Given the description of an element on the screen output the (x, y) to click on. 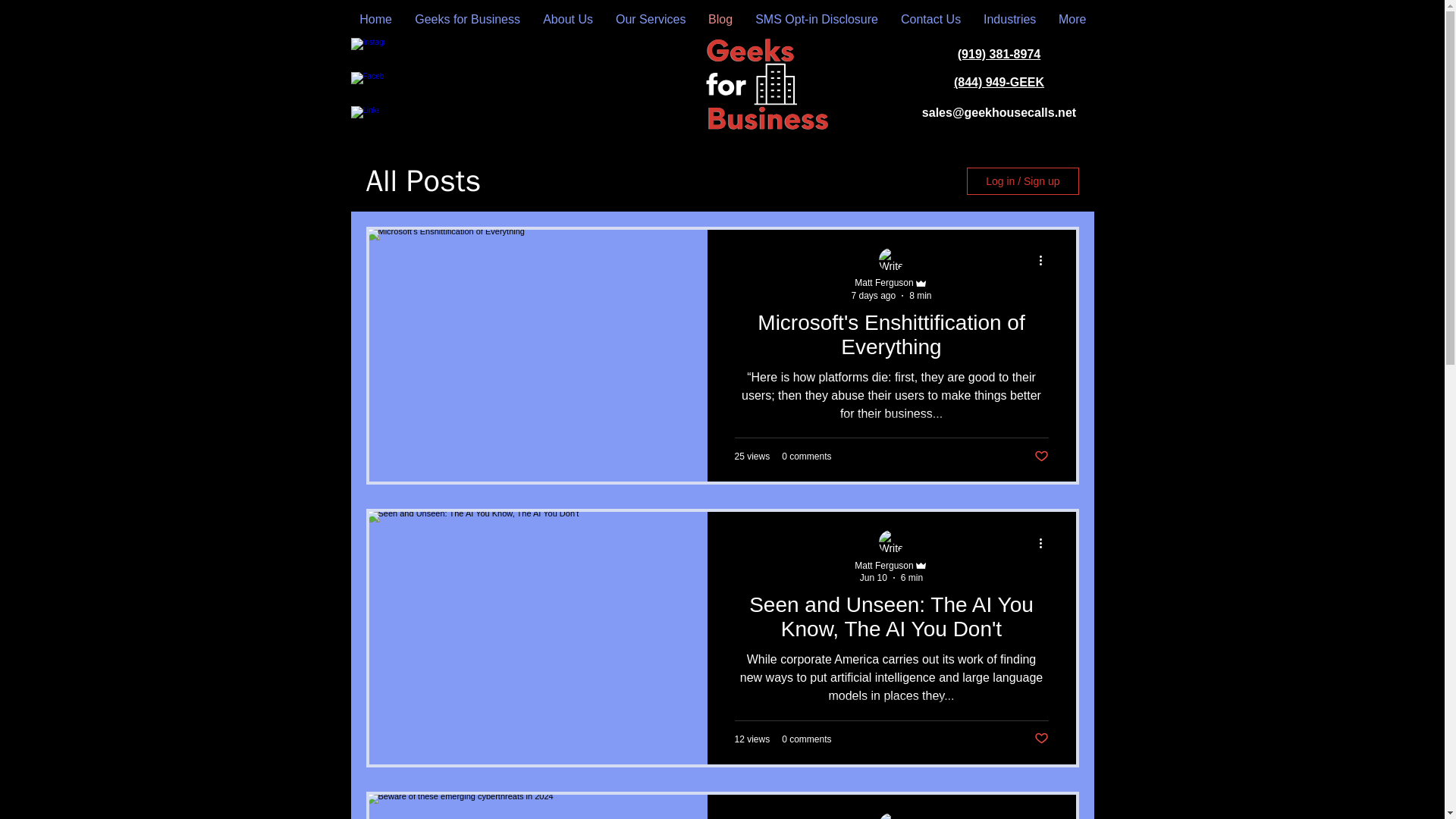
Microsoft's Enshittification of Everything (890, 339)
Industries (1009, 19)
Blog (720, 19)
Home (375, 19)
About Us (567, 19)
Contact Us (930, 19)
All Posts (422, 180)
6 min (912, 577)
Our Services (650, 19)
0 comments (806, 456)
SMS Opt-in Disclosure (816, 19)
8 min (919, 295)
7 days ago (872, 295)
Post not marked as liked (1040, 456)
Geeks for Business (467, 19)
